Given the description of an element on the screen output the (x, y) to click on. 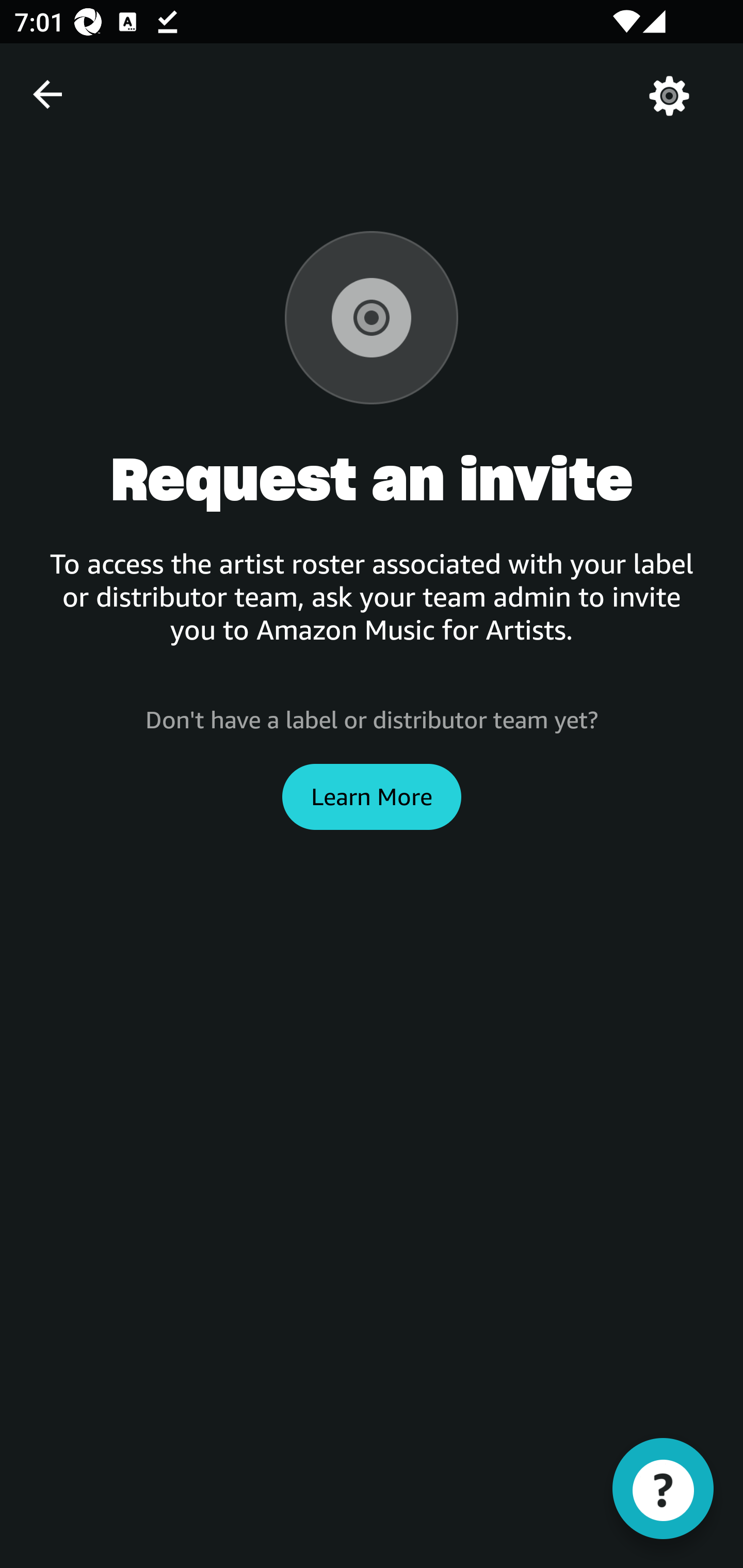
Learn more button Learn More (371, 796)
